Given the description of an element on the screen output the (x, y) to click on. 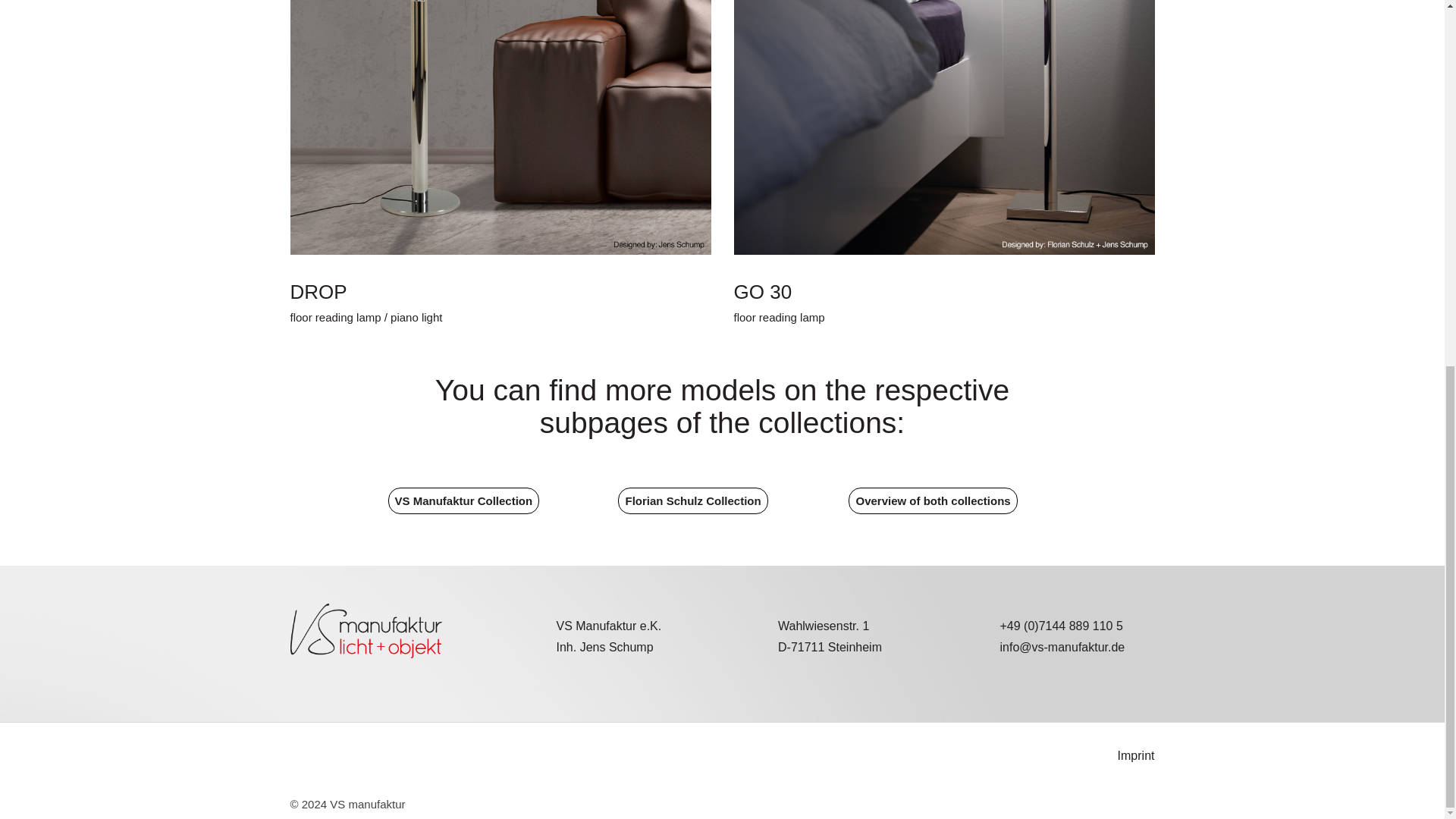
GO-30-Ambientefoto-design-by-florian-schulz-und-jens-schump (943, 127)
GO 30 (762, 291)
DROP (317, 291)
DROP-design-by-jens-schump-Ambientefoto (499, 127)
